Given the description of an element on the screen output the (x, y) to click on. 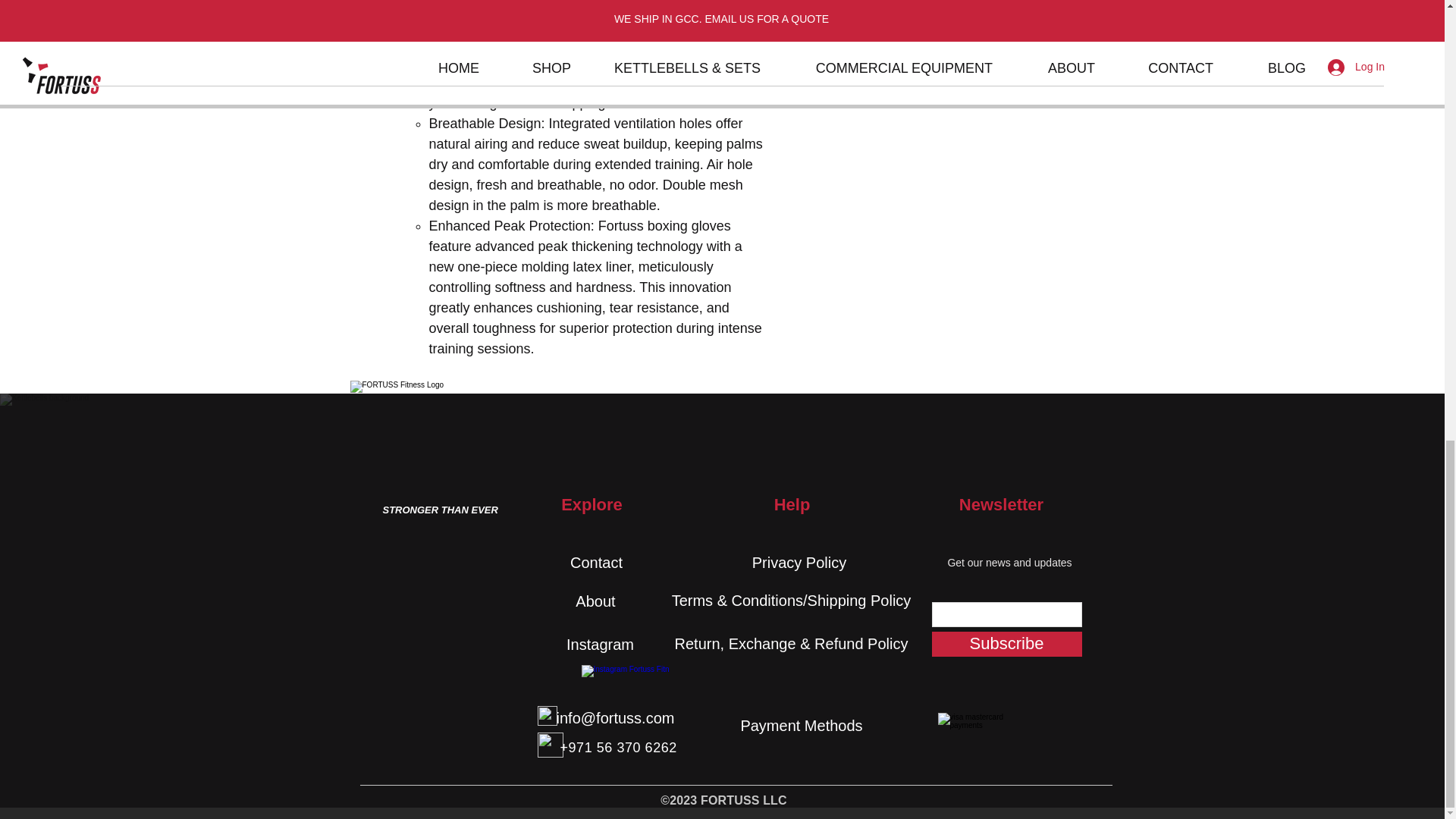
Mobile number (549, 744)
Instagram (599, 643)
About (595, 600)
Privacy Policy (798, 562)
Email (546, 715)
Contact (595, 562)
Subscribe (1006, 643)
